Given the description of an element on the screen output the (x, y) to click on. 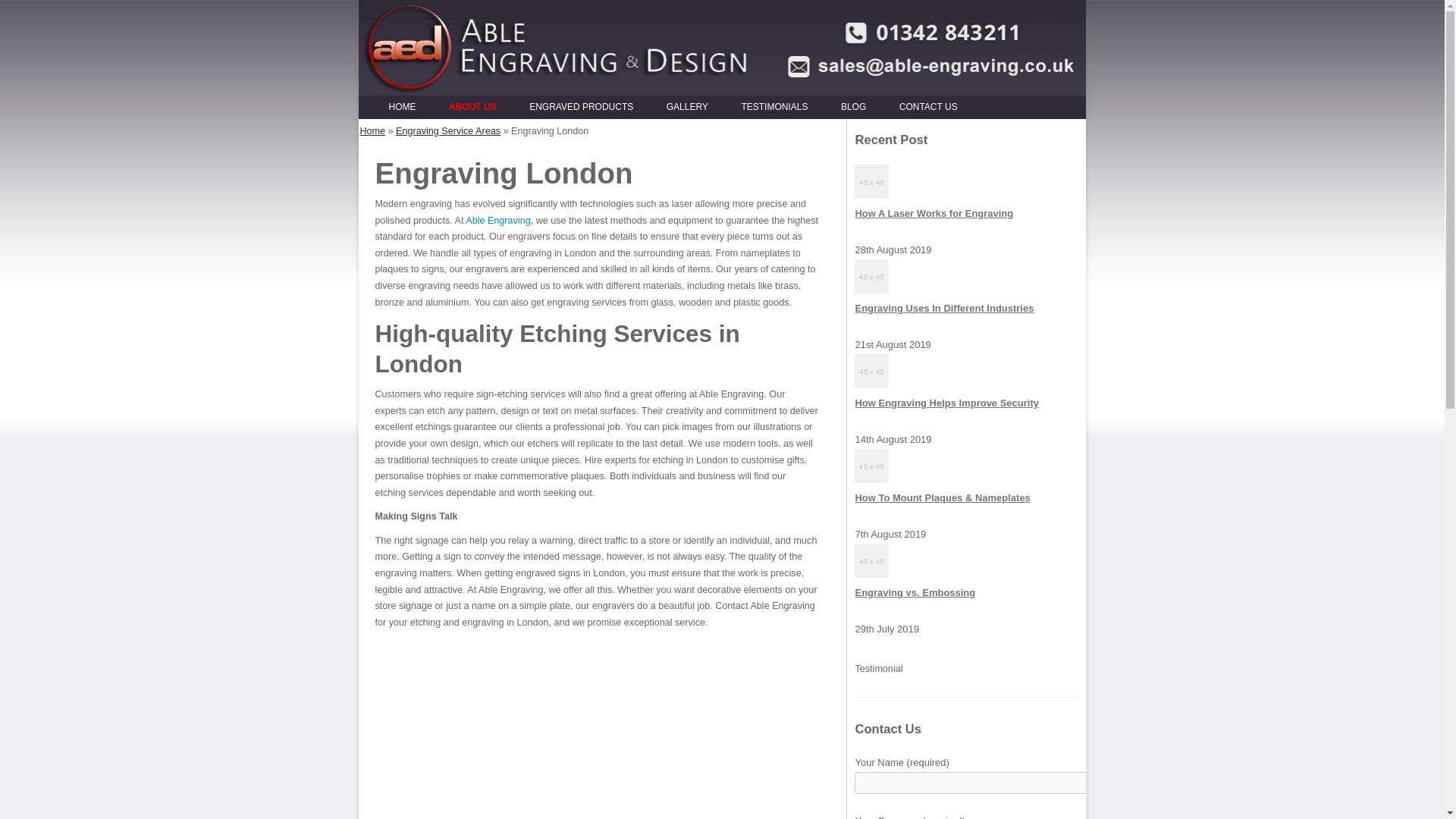
GALLERY (686, 107)
How A Laser Works for Engraving (933, 213)
Skip to content (753, 99)
ENGRAVED PRODUCTS (581, 107)
Able Engraving (497, 220)
ABOUT US (472, 107)
Engraving Uses In Different Industries (943, 307)
Permalink to Engraving Uses In Different Industries (943, 307)
TESTIMONIALS (774, 107)
Permalink to How A Laser Works for Engraving (933, 213)
